Given the description of an element on the screen output the (x, y) to click on. 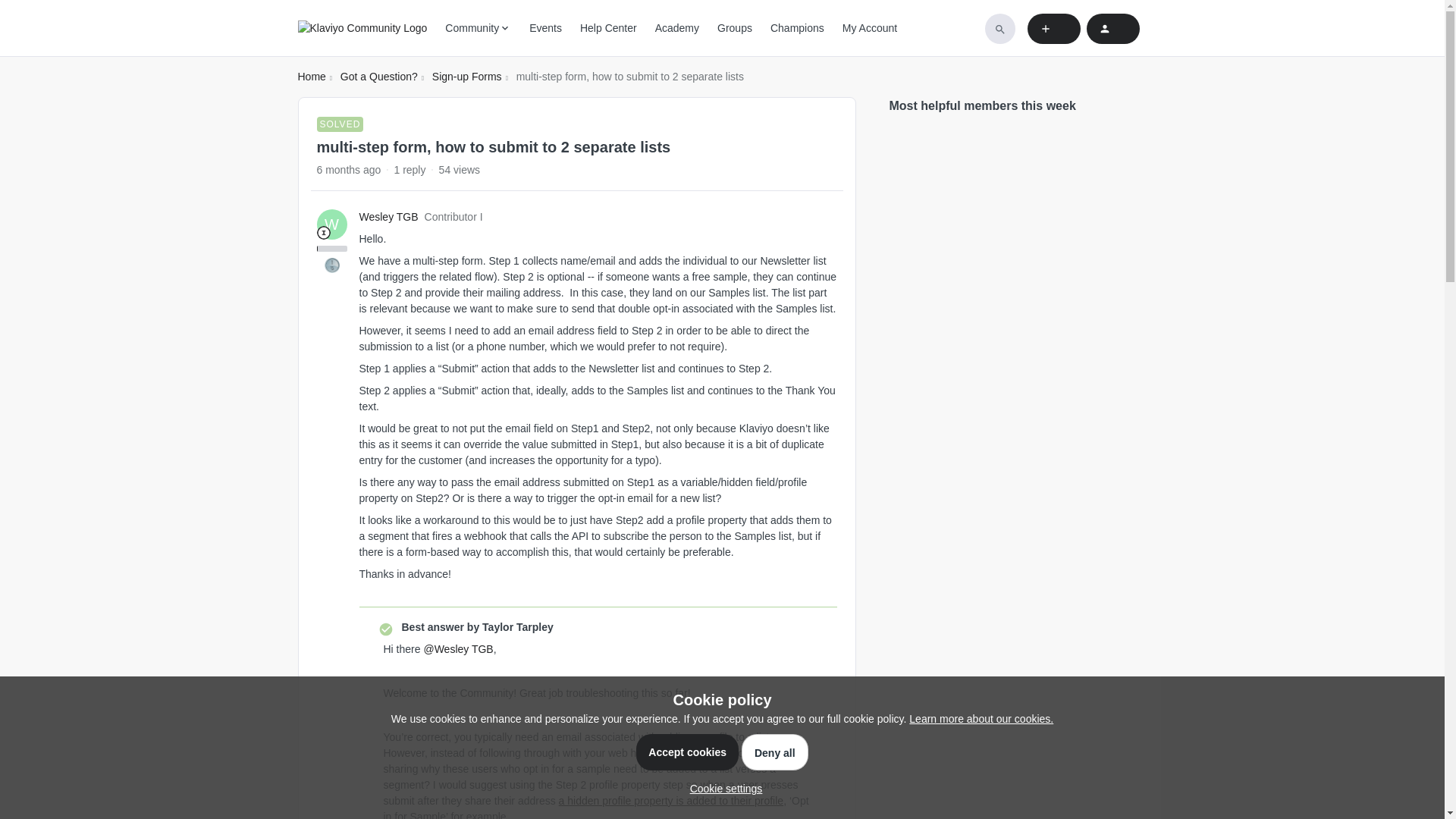
Groups (734, 28)
Champions (797, 28)
Events (545, 28)
Help Center (608, 28)
Community (478, 28)
Home (310, 76)
Academy (676, 28)
Got a Question? (378, 76)
My Account (869, 28)
